Given the description of an element on the screen output the (x, y) to click on. 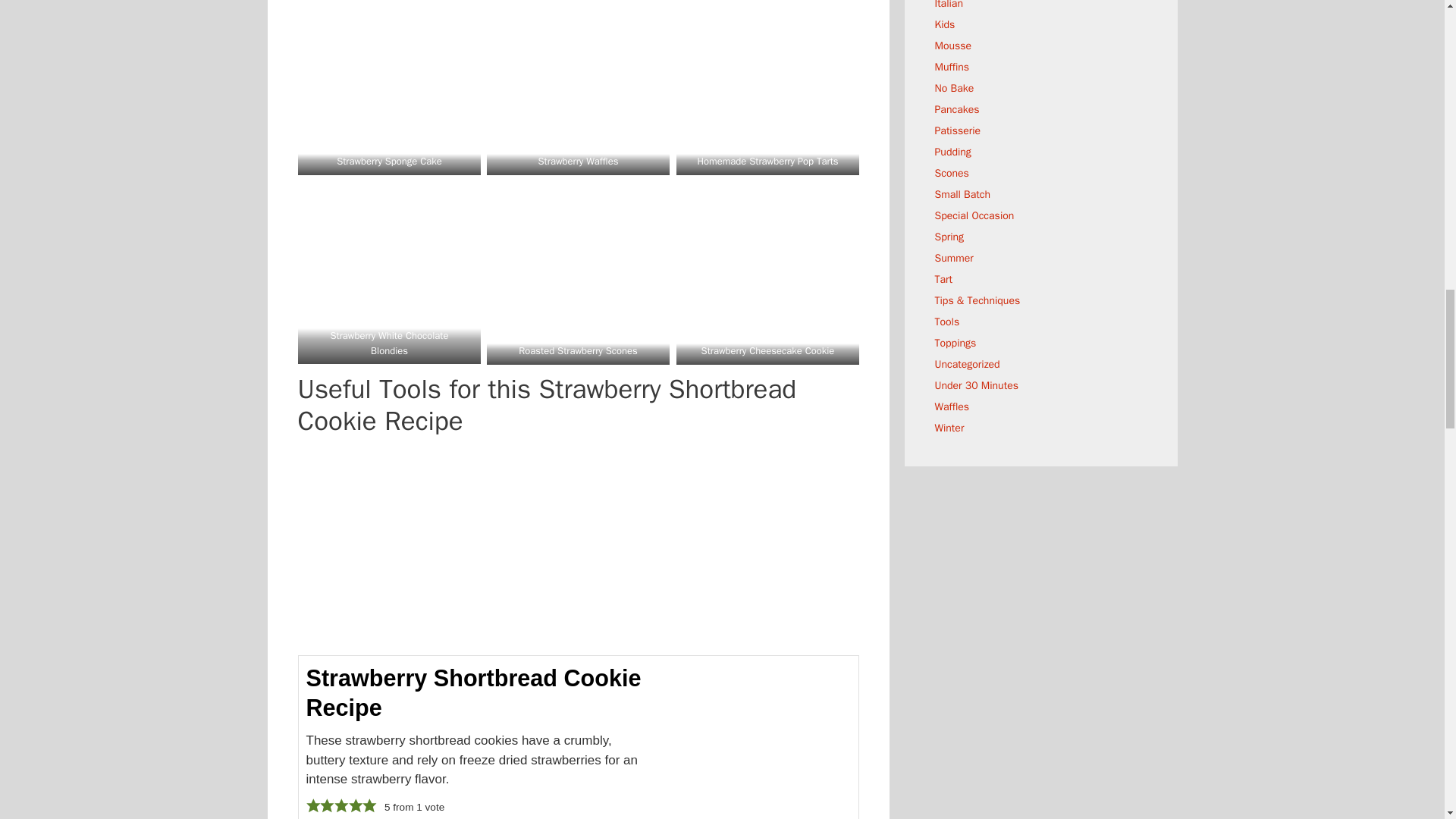
Strawberry Cheesecake Cookie (767, 350)
Strawberry Sponge Cake (389, 160)
Strawberry White Chocolate Blondies (389, 343)
Strawberry Waffles (578, 160)
Roasted Strawberry Scones (577, 350)
Homemade Strawberry Pop Tarts (767, 160)
